Given the description of an element on the screen output the (x, y) to click on. 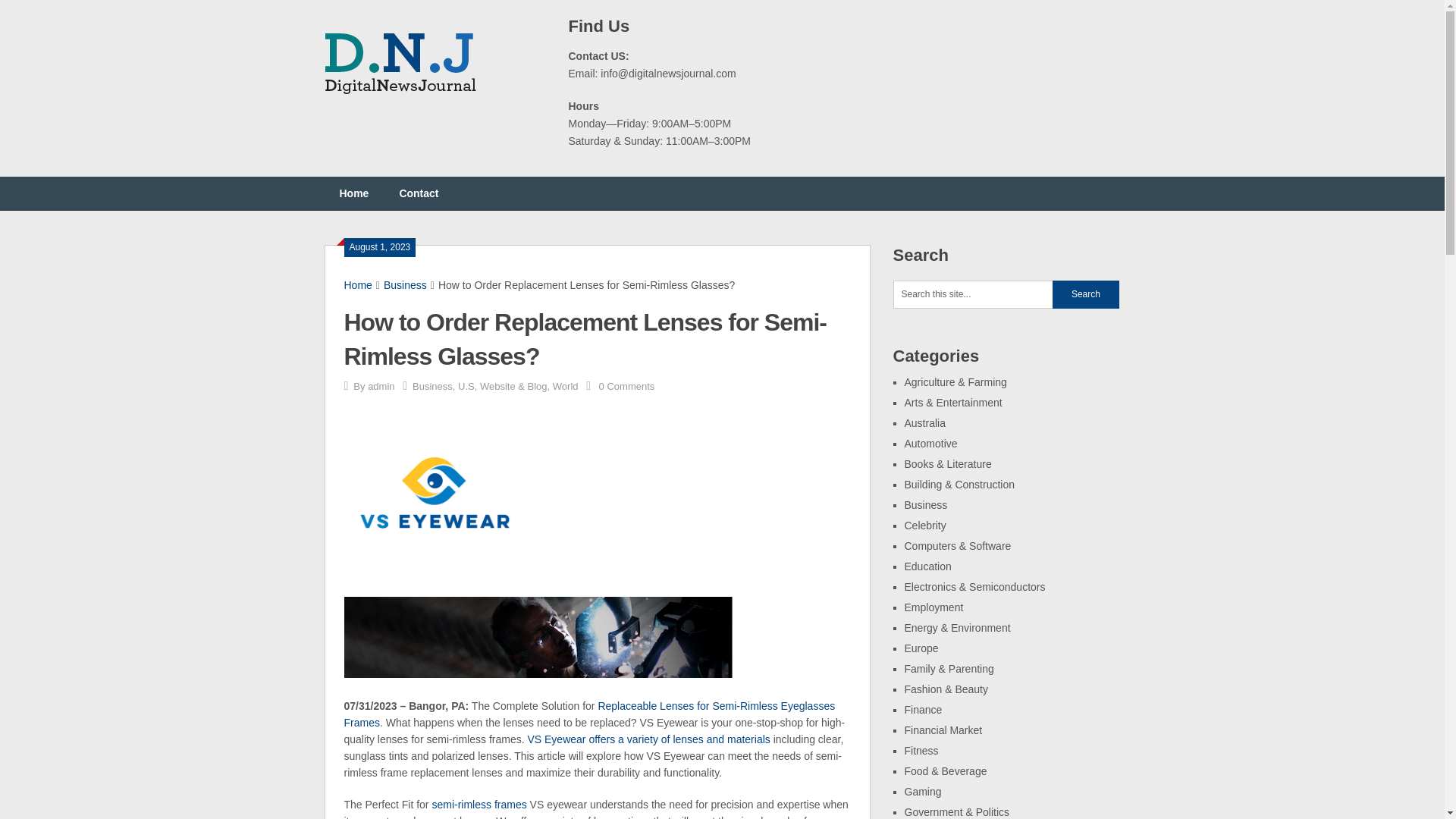
Posts by admin (381, 386)
Celebrity (924, 525)
Replaceable Lenses for Semi-Rimless Eyeglasses Frames (589, 714)
admin (381, 386)
Automotive (930, 443)
Search this site... (972, 294)
Business (925, 504)
Australia (924, 422)
World (565, 386)
U.S (466, 386)
Business (405, 285)
Home (357, 285)
0 Comments (626, 386)
VS Eyewear offers a variety of lenses and materials (648, 739)
